Given the description of an element on the screen output the (x, y) to click on. 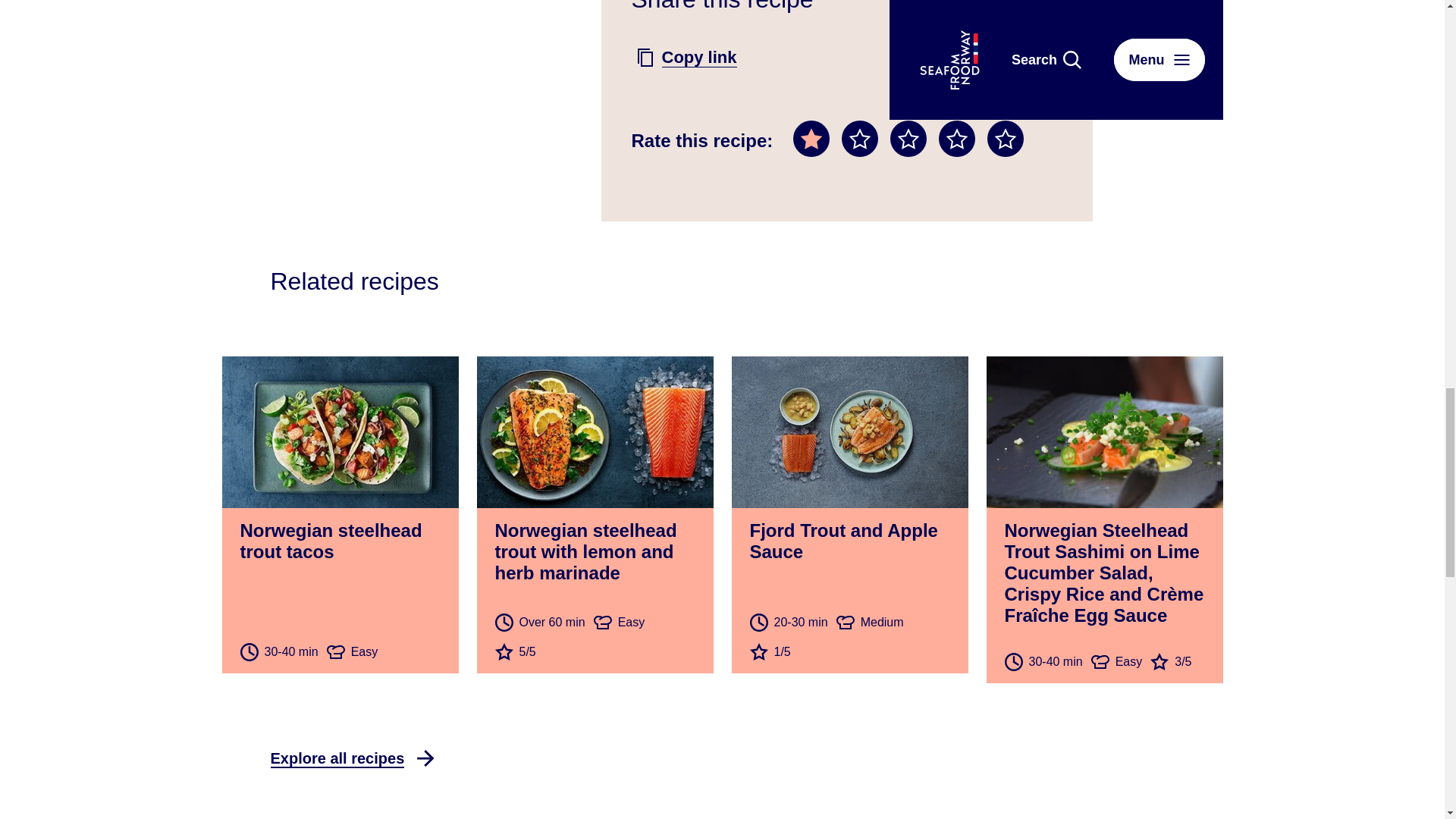
2 (859, 138)
5 (1005, 138)
3 (907, 138)
4 (957, 138)
1 (811, 138)
